Given the description of an element on the screen output the (x, y) to click on. 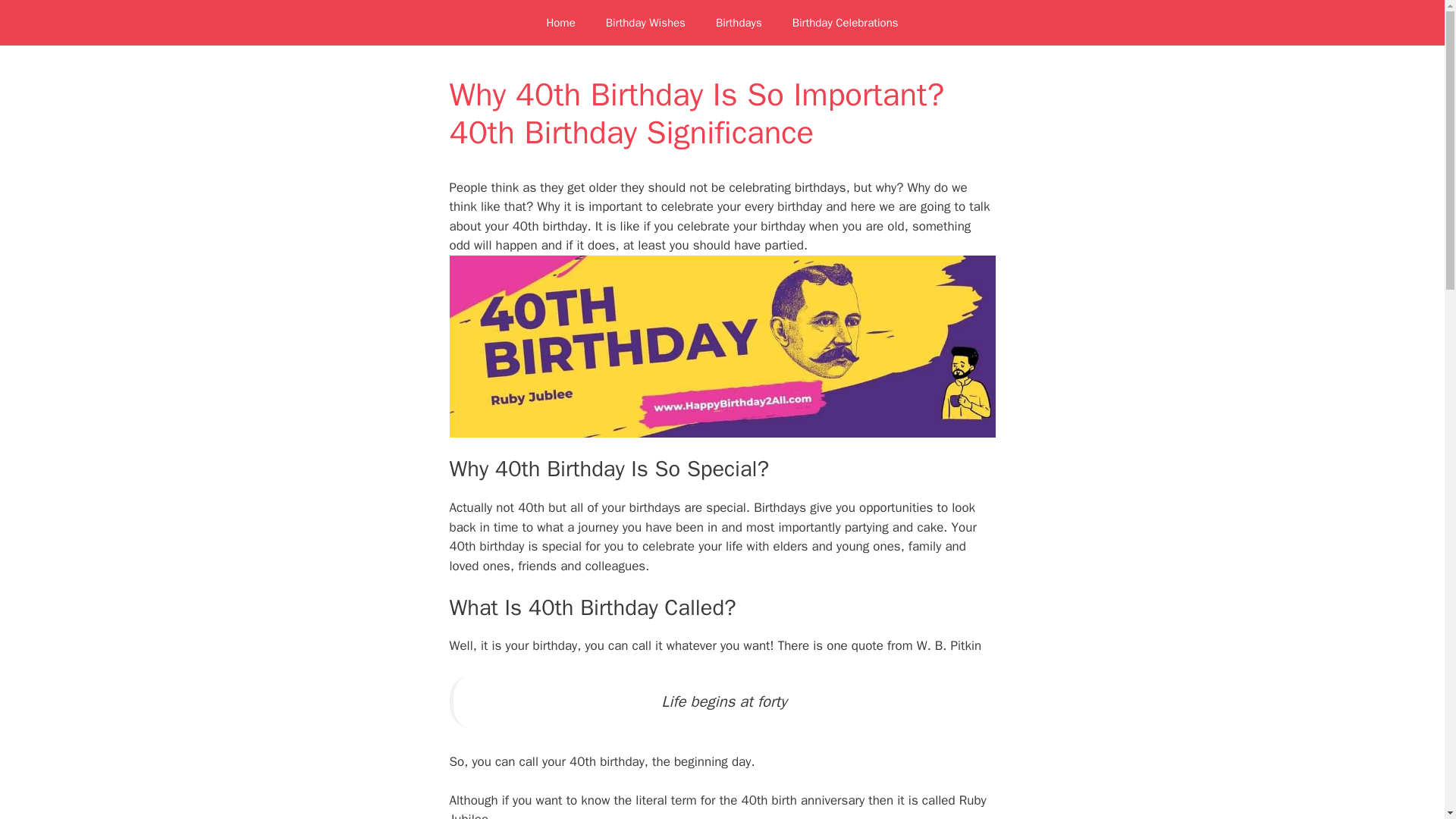
Birthdays (738, 22)
Birthday Wishes (645, 22)
Home (560, 22)
Birthday Celebrations (845, 22)
